Given the description of an element on the screen output the (x, y) to click on. 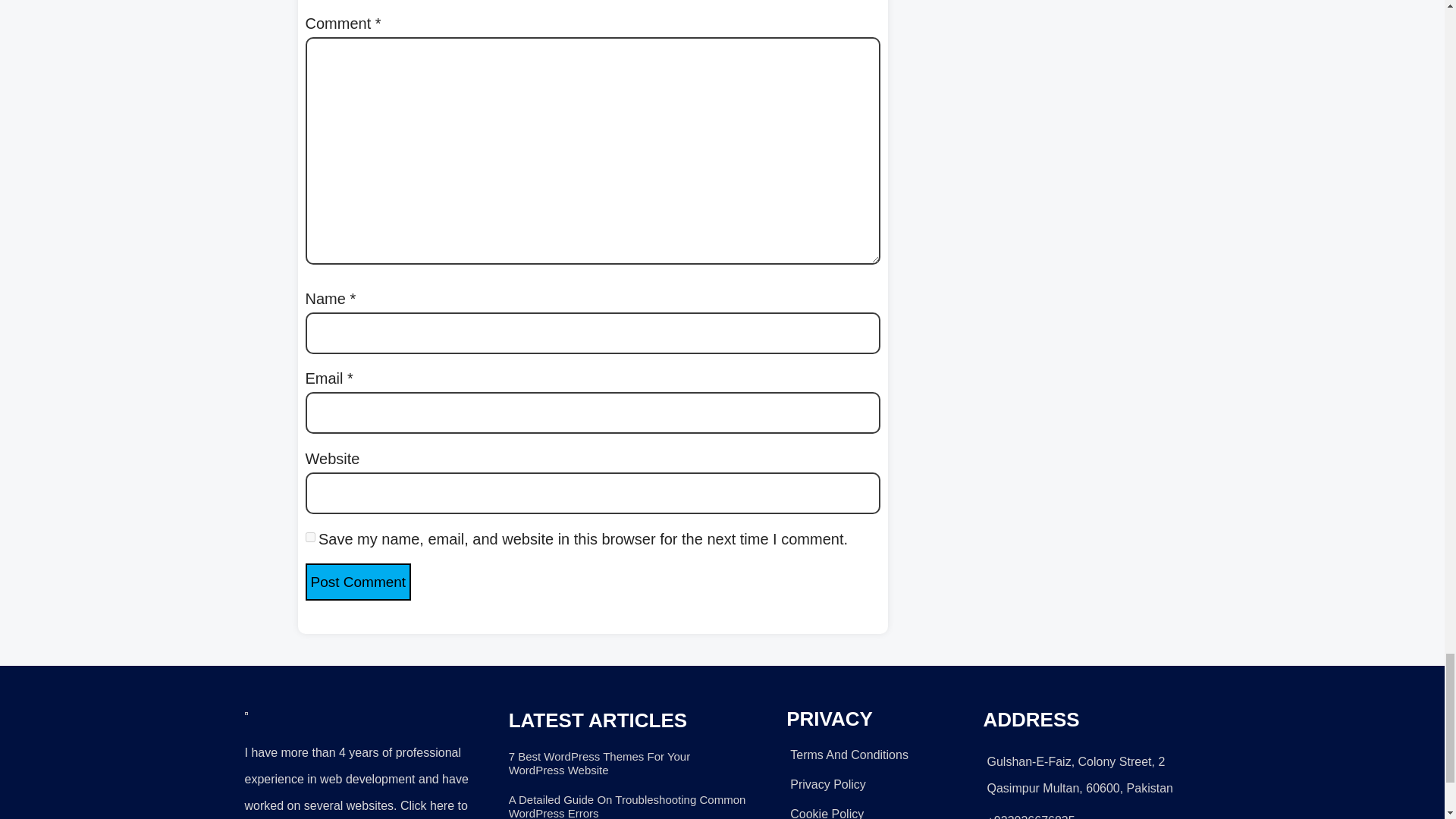
yes (309, 537)
Post Comment (357, 581)
